Given the description of an element on the screen output the (x, y) to click on. 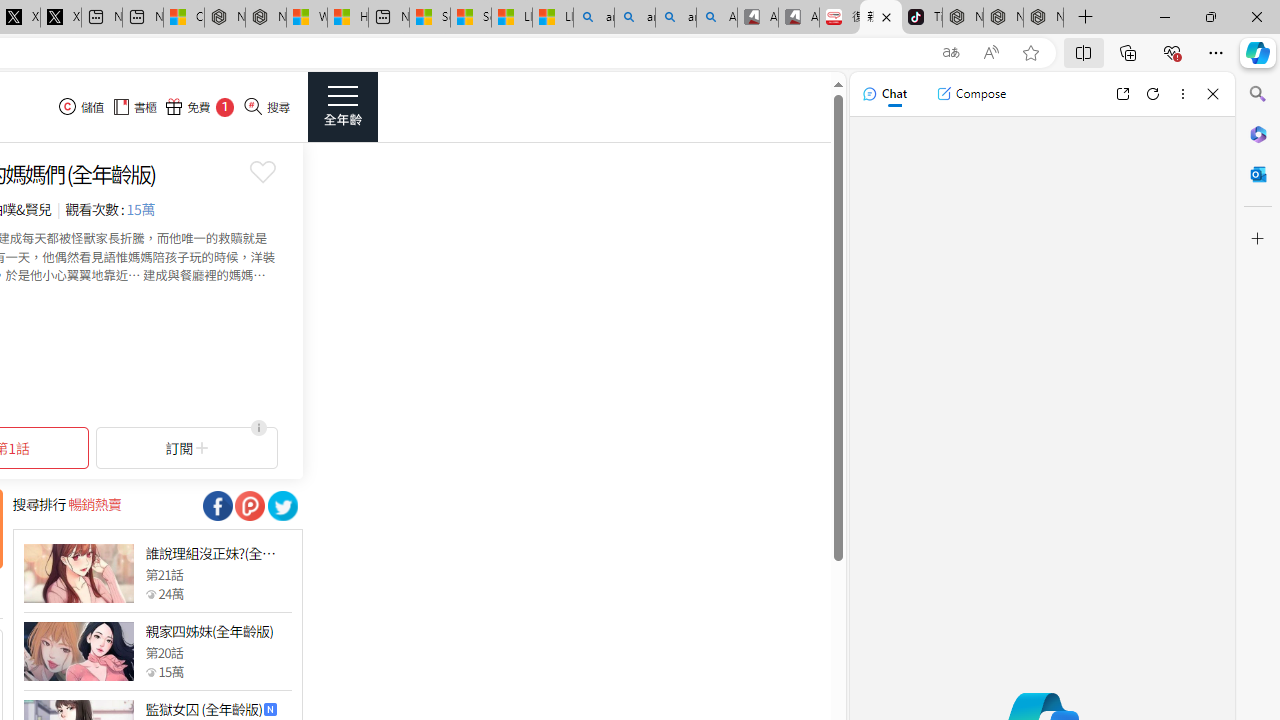
Class: epicon_starpoint (150, 671)
Nordace Siena Pro 15 Backpack (1003, 17)
All Cubot phones (799, 17)
Class: thumb_img (78, 651)
Compose (971, 93)
